Given the description of an element on the screen output the (x, y) to click on. 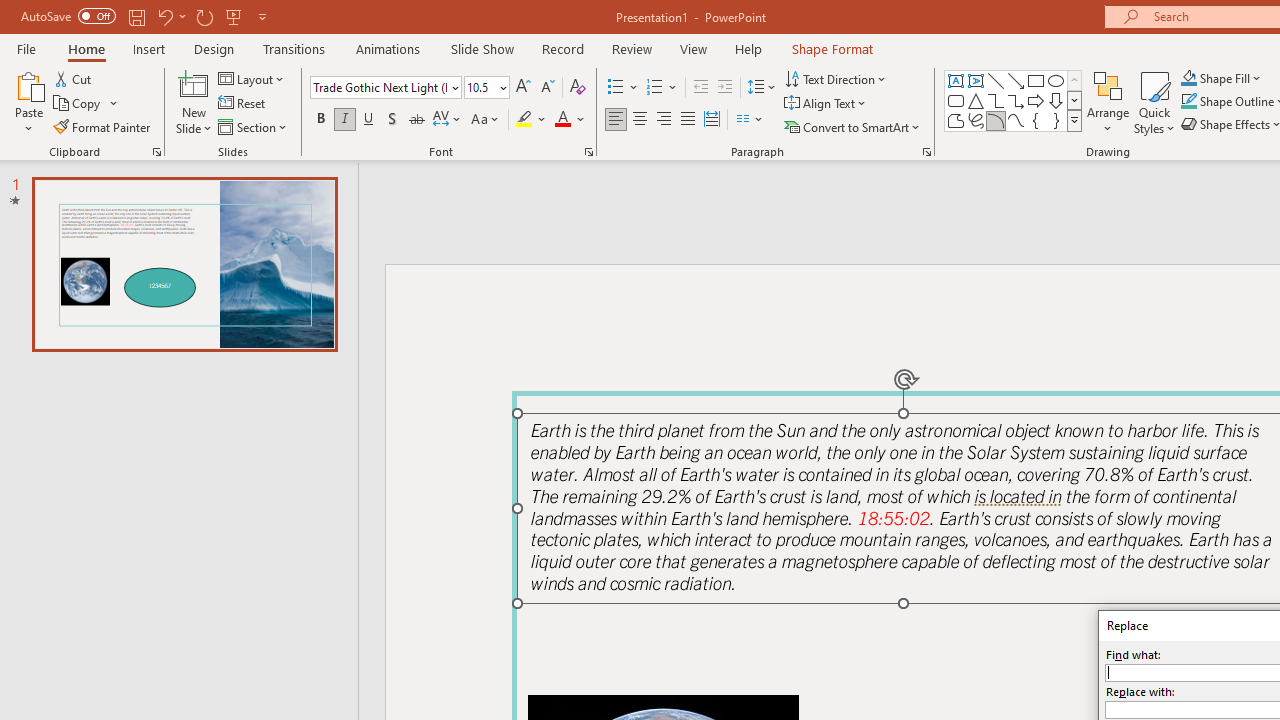
Cut (73, 78)
Right Brace (1055, 120)
Arrow: Right (1035, 100)
Italic (344, 119)
Character Spacing (447, 119)
Line Spacing (762, 87)
Convert to SmartArt (853, 126)
Arrange (1108, 102)
Align Right (663, 119)
Shapes (1074, 120)
